Given the description of an element on the screen output the (x, y) to click on. 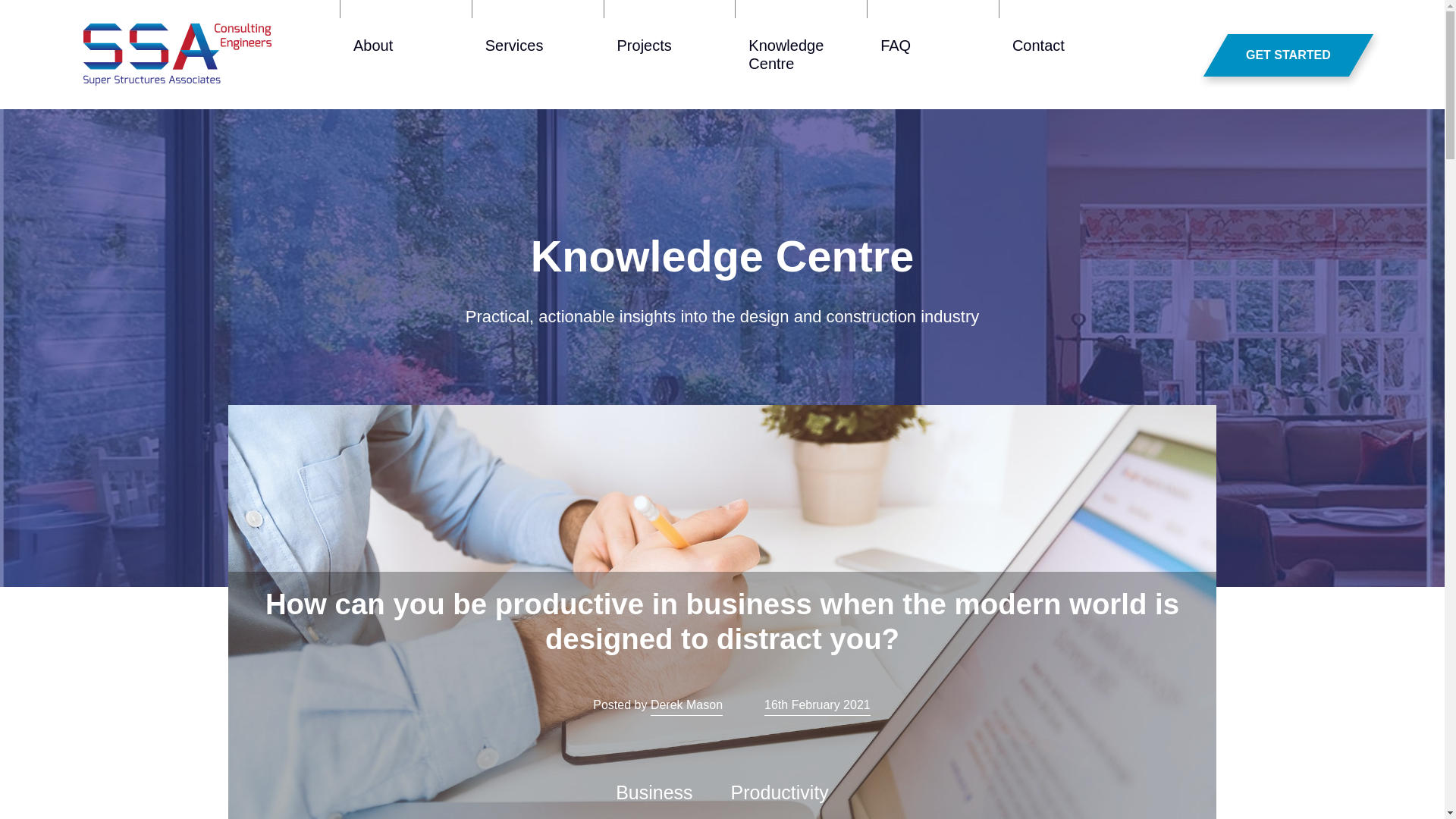
FAQ (932, 54)
Contact (1064, 54)
Projects (669, 54)
Productivity (779, 792)
GET STARTED (1276, 55)
Services (537, 54)
Business (654, 792)
About (405, 54)
Knowledge Centre (800, 54)
